Given the description of an element on the screen output the (x, y) to click on. 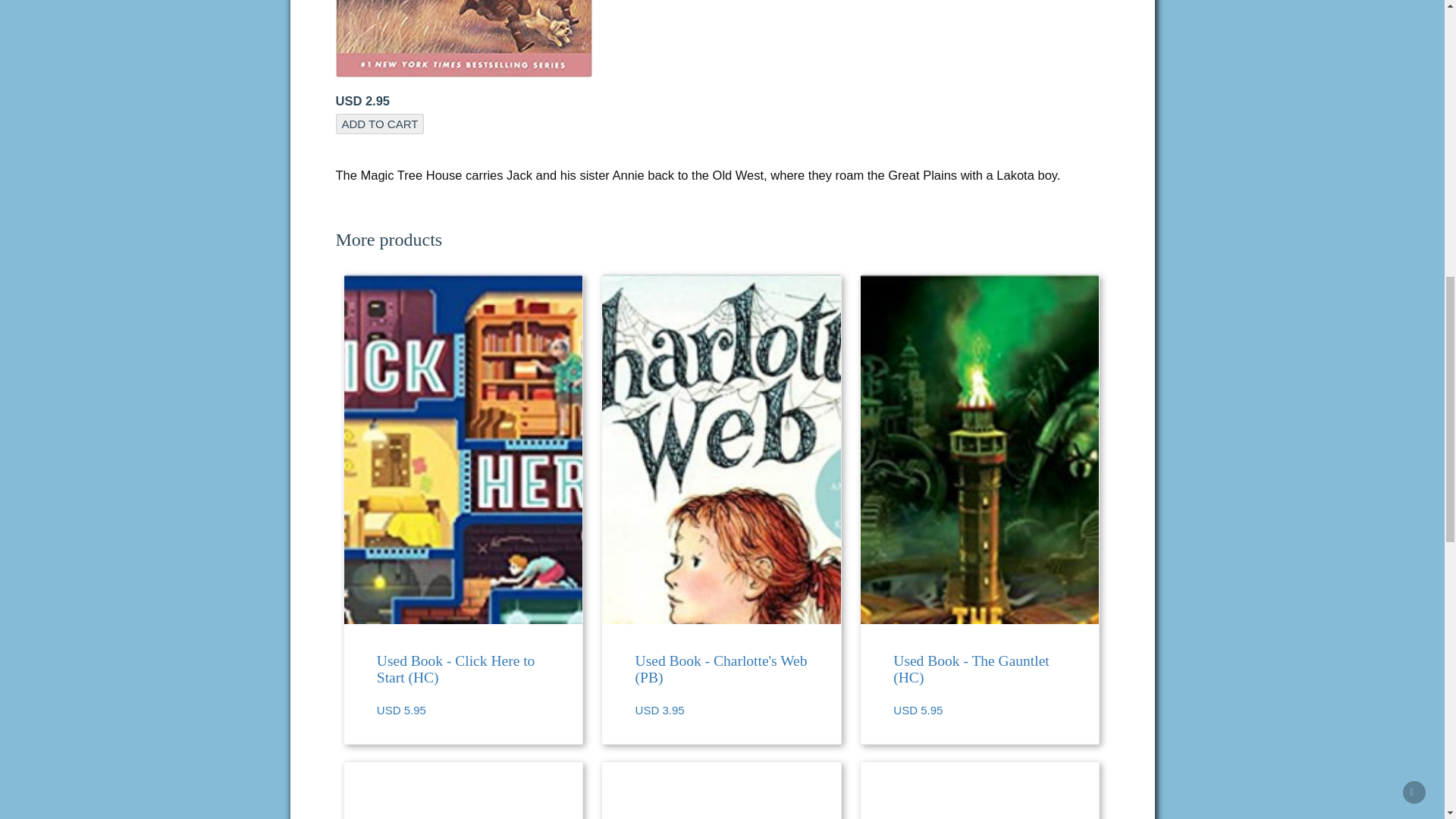
ADD TO CART (378, 123)
